Given the description of an element on the screen output the (x, y) to click on. 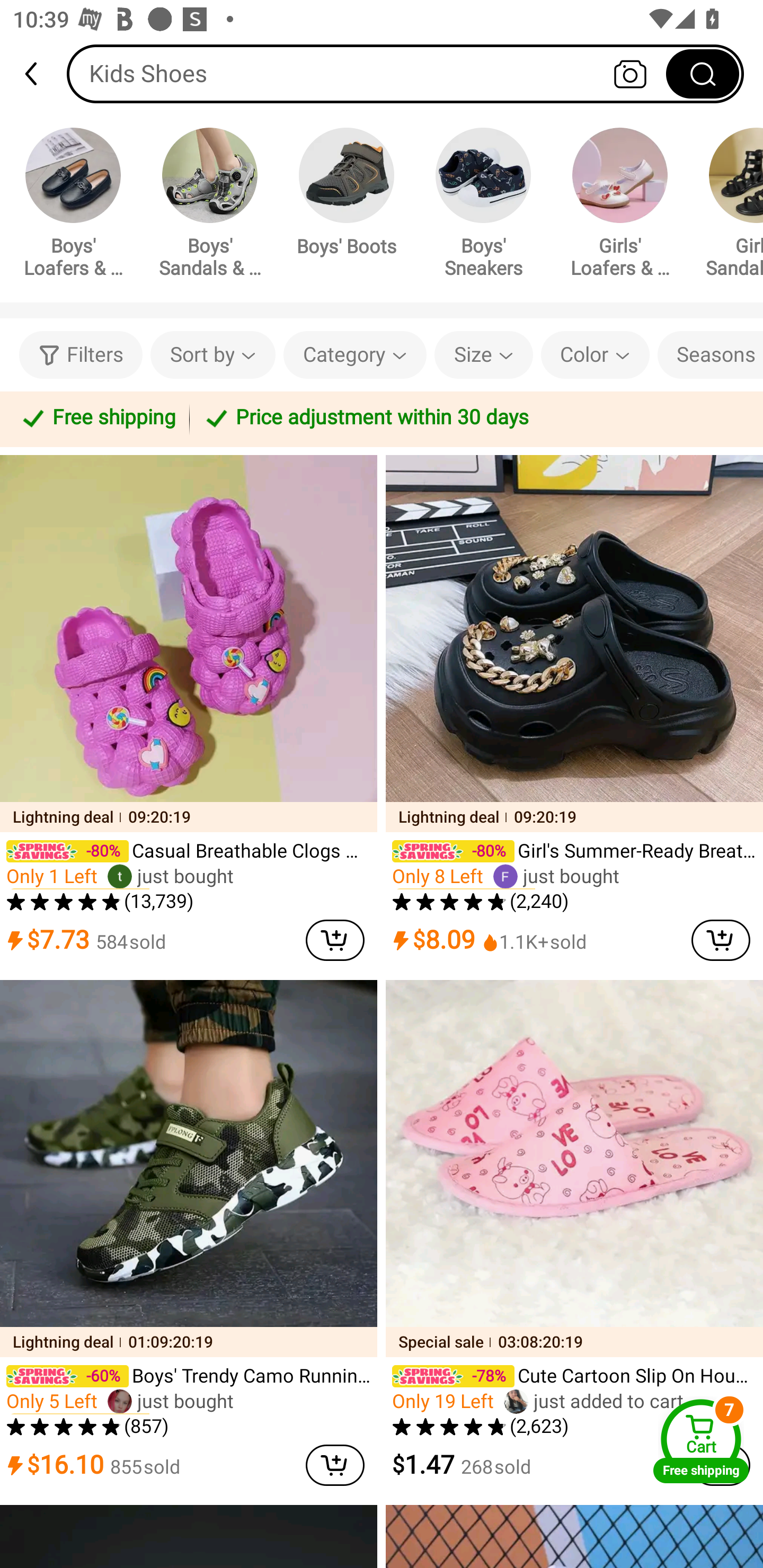
back (39, 73)
Kids Shoes (405, 73)
Boys' Loafers & Slip-Ons (73, 205)
Boys' Sandals & Slippers (209, 205)
Boys' Boots (346, 195)
Boys' Sneakers (483, 205)
Girls' Loafers & Slip-Ons (619, 205)
Girls' Sandals & Slippers (728, 205)
Filters (80, 354)
Sort by (212, 354)
Category (354, 354)
Size (483, 354)
Color (594, 354)
Seasons (710, 354)
Free shipping (97, 418)
Price adjustment within 30 days (472, 418)
cart delete (334, 939)
cart delete (720, 939)
Cart Free shipping Cart (701, 1440)
cart delete (334, 1465)
